Given the description of an element on the screen output the (x, y) to click on. 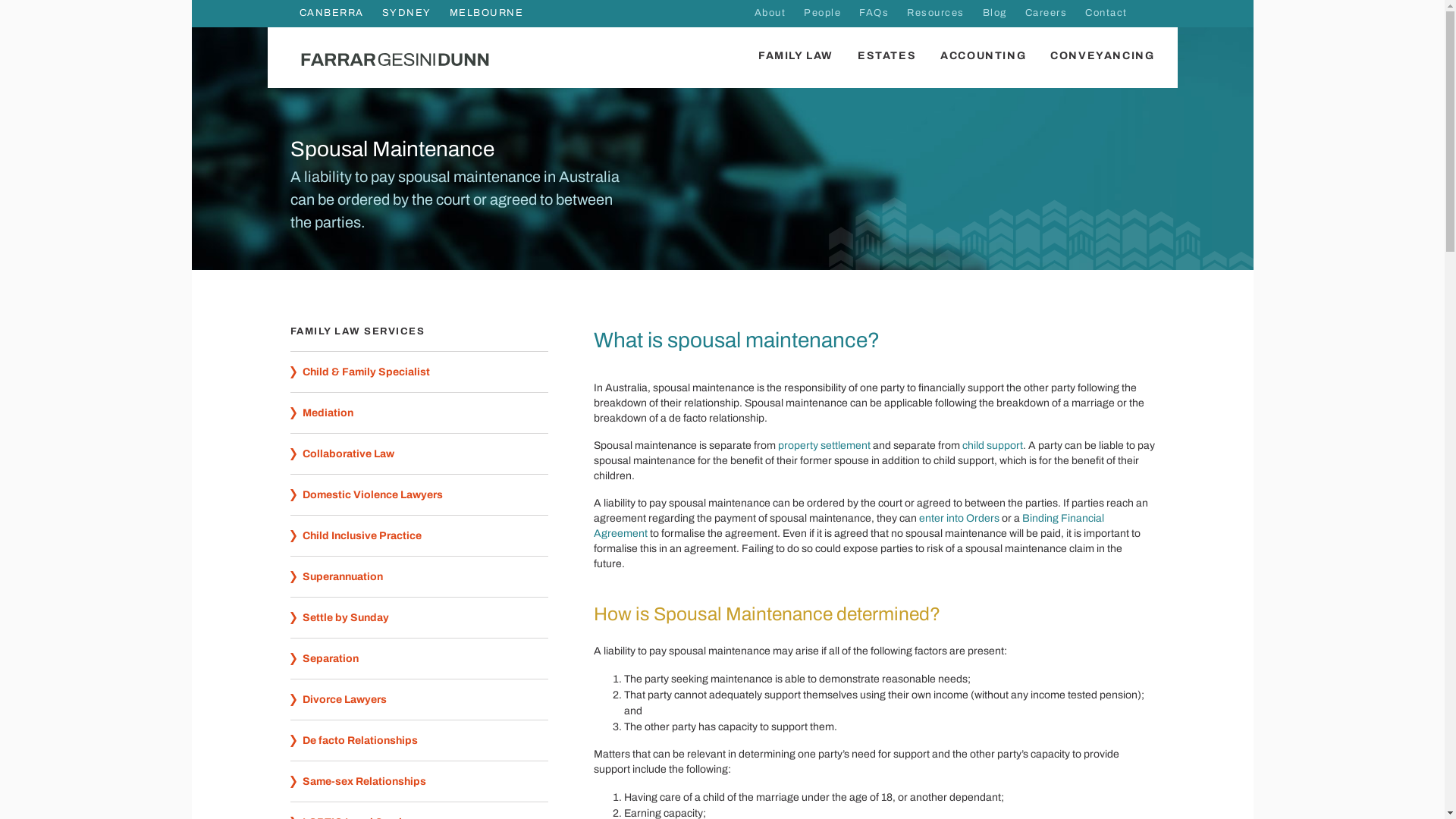
About Element type: text (769, 13)
Child & Family Specialist Element type: text (418, 371)
child support Element type: text (991, 445)
Resources Element type: text (935, 13)
Mediation Element type: text (418, 412)
ESTATES Element type: text (886, 55)
Child Inclusive Practice Element type: text (418, 535)
Superannuation Element type: text (418, 576)
People Element type: text (822, 13)
FAMILY LAW Element type: text (795, 55)
Contact Element type: text (1106, 13)
property settlement Element type: text (824, 445)
CANBERRA Element type: text (330, 13)
Blog Element type: text (994, 13)
MELBOURNE Element type: text (481, 13)
enter into Orders Element type: text (959, 518)
Same-sex Relationships Element type: text (418, 781)
ACCOUNTING Element type: text (983, 55)
Collaborative Law Element type: text (418, 453)
De facto Relationships Element type: text (418, 740)
SYDNEY Element type: text (406, 13)
CONVEYANCING Element type: text (1096, 55)
Settle by Sunday Element type: text (418, 617)
Careers Element type: text (1046, 13)
Separation Element type: text (418, 658)
Divorce Lawyers Element type: text (418, 699)
Binding Financial Agreement Element type: text (848, 525)
FAQs Element type: text (873, 13)
Domestic Violence Lawyers Element type: text (418, 494)
